Given the description of an element on the screen output the (x, y) to click on. 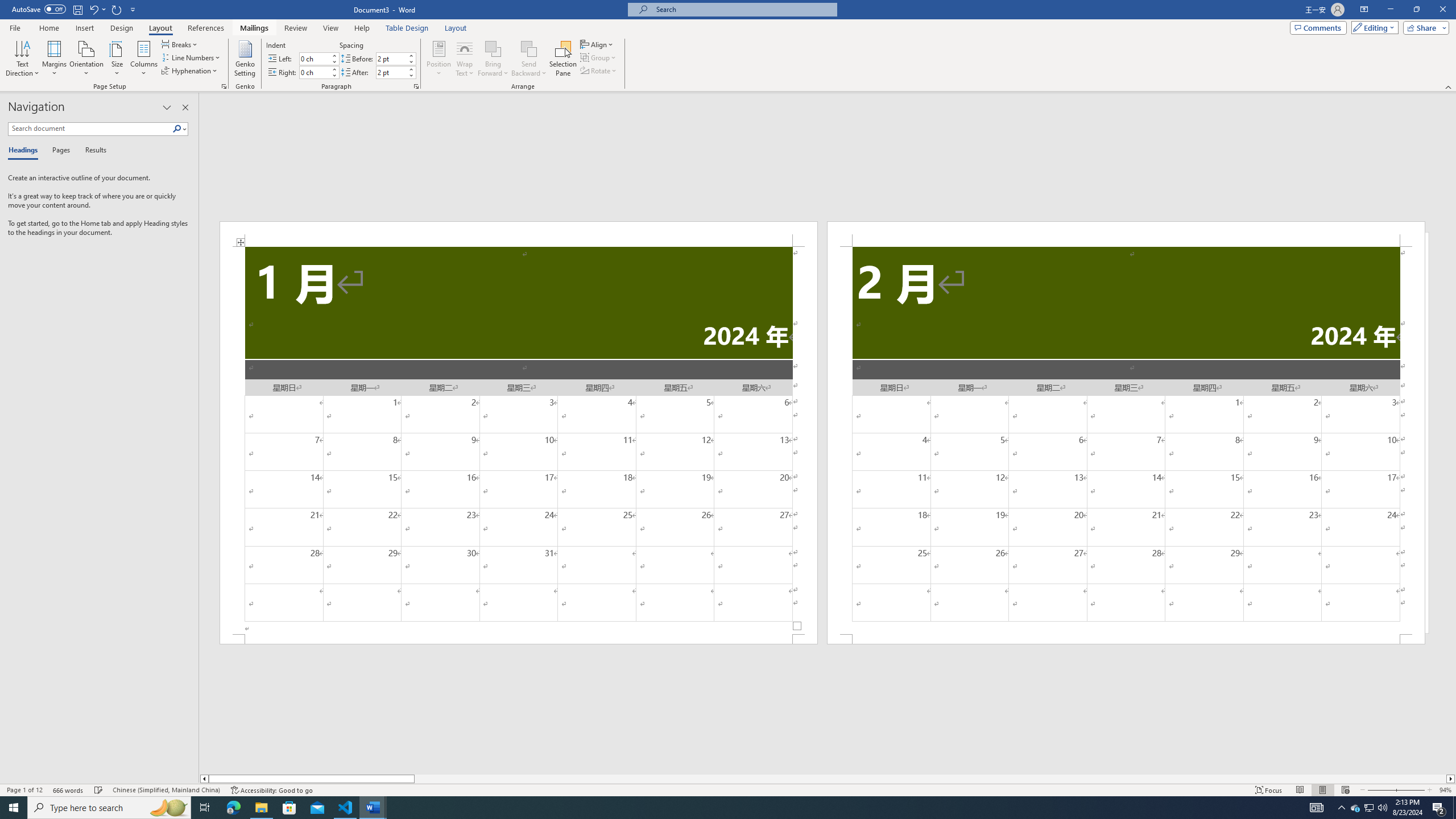
Table Design (407, 28)
More Options (528, 68)
Indent Right (314, 72)
Footer -Section 1- (518, 638)
Position (438, 58)
